Given the description of an element on the screen output the (x, y) to click on. 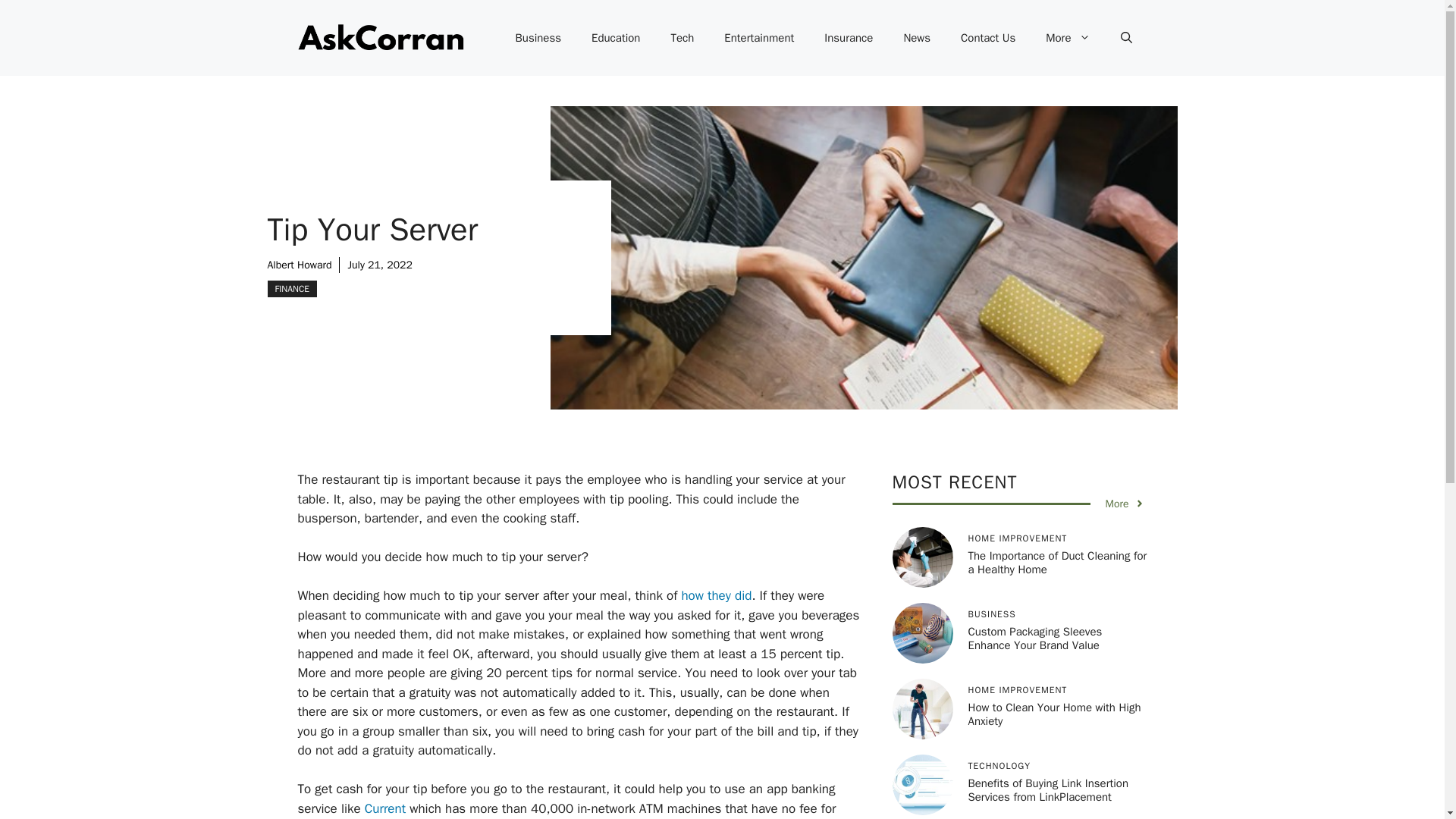
FINANCE (291, 288)
Entertainment (759, 37)
Education (615, 37)
Albert Howard (298, 264)
More (1067, 37)
how they did (716, 595)
The Importance of Duct Cleaning for a Healthy Home (1057, 562)
Contact Us (987, 37)
Tech (682, 37)
Business (538, 37)
How to Clean Your Home with High Anxiety (1054, 714)
Custom Packaging Sleeves Enhance Your Brand Value (1035, 637)
More (1124, 503)
Insurance (848, 37)
